Given the description of an element on the screen output the (x, y) to click on. 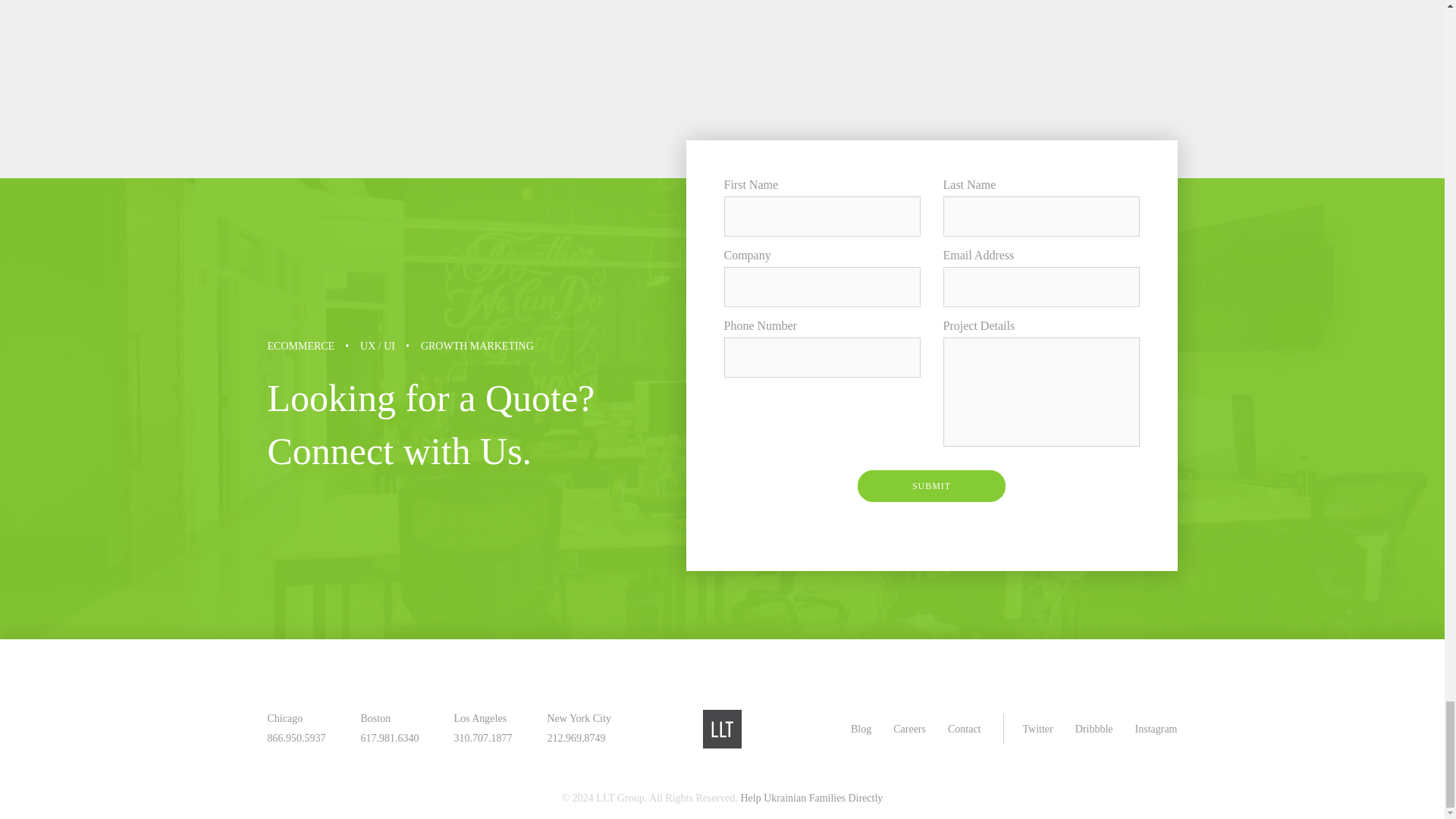
Submit (931, 486)
